Given the description of an element on the screen output the (x, y) to click on. 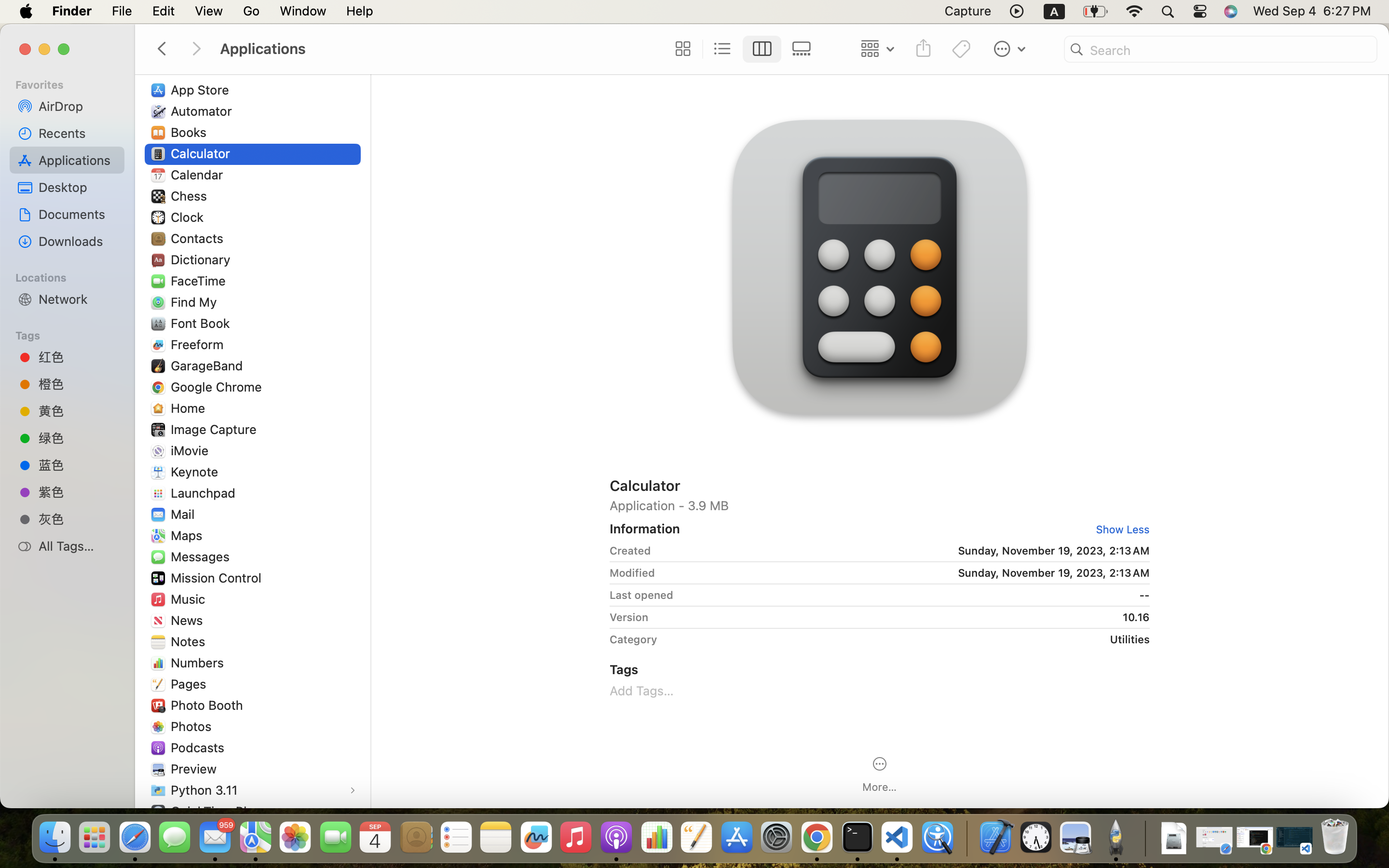
Calculator Element type: AXStaticText (879, 484)
App Store Element type: AXTextField (201, 89)
GarageBand Element type: AXTextField (208, 365)
Applications Element type: AXStaticText (437, 49)
Freeform Element type: AXTextField (198, 344)
